Given the description of an element on the screen output the (x, y) to click on. 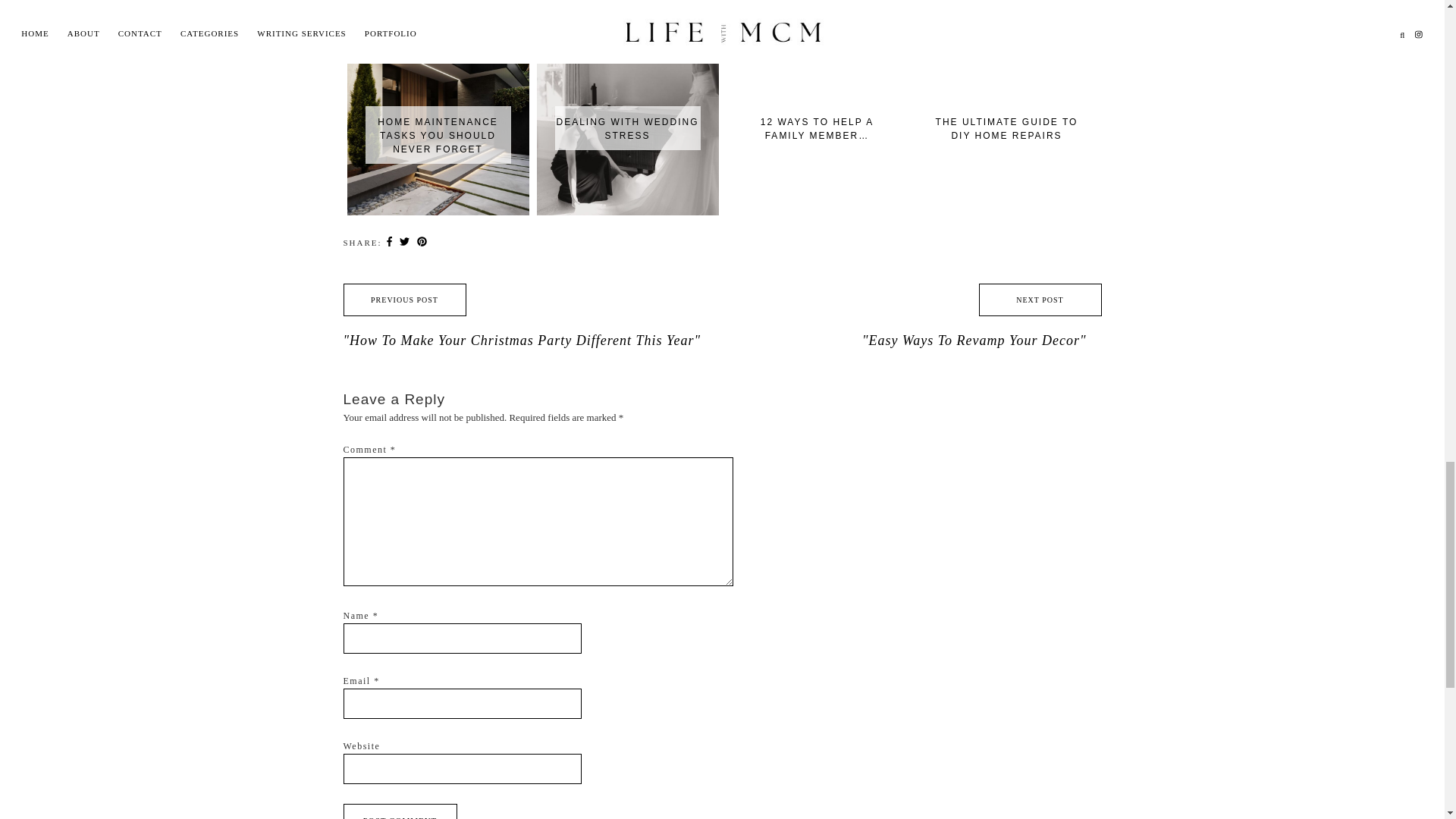
Post Comment (399, 811)
DEALING WITH WEDDING STRESS (628, 54)
HOME MAINTENANCE TASKS YOU SHOULD NEVER FORGET (438, 61)
Post Comment (399, 811)
THE ULTIMATE GUIDE TO DIY HOME REPAIRS (1006, 54)
